Given the description of an element on the screen output the (x, y) to click on. 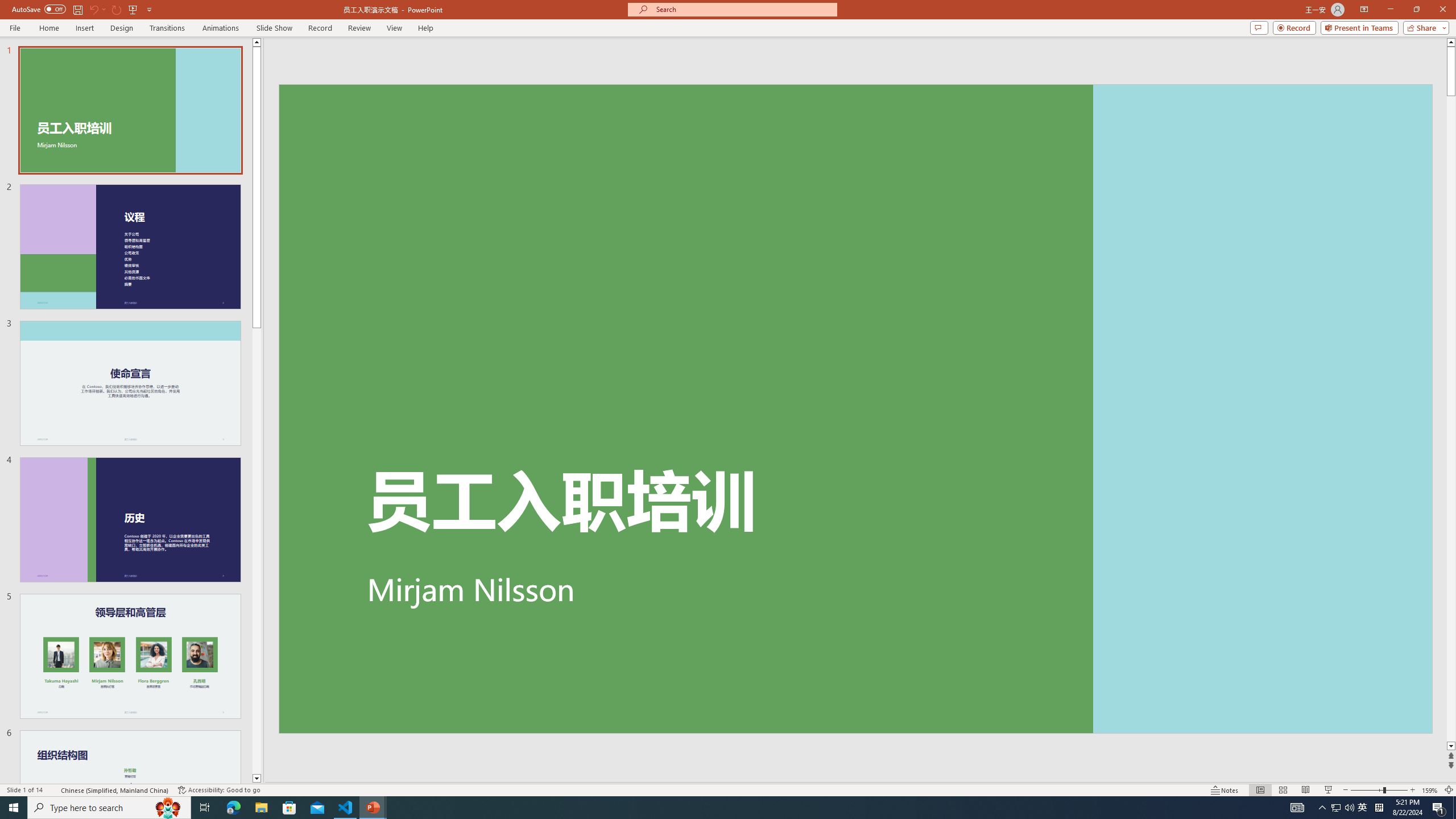
Zoom 159% (1430, 790)
Accessibility Checker Accessibility: Good to go (218, 790)
Spell Check  (52, 790)
